Given the description of an element on the screen output the (x, y) to click on. 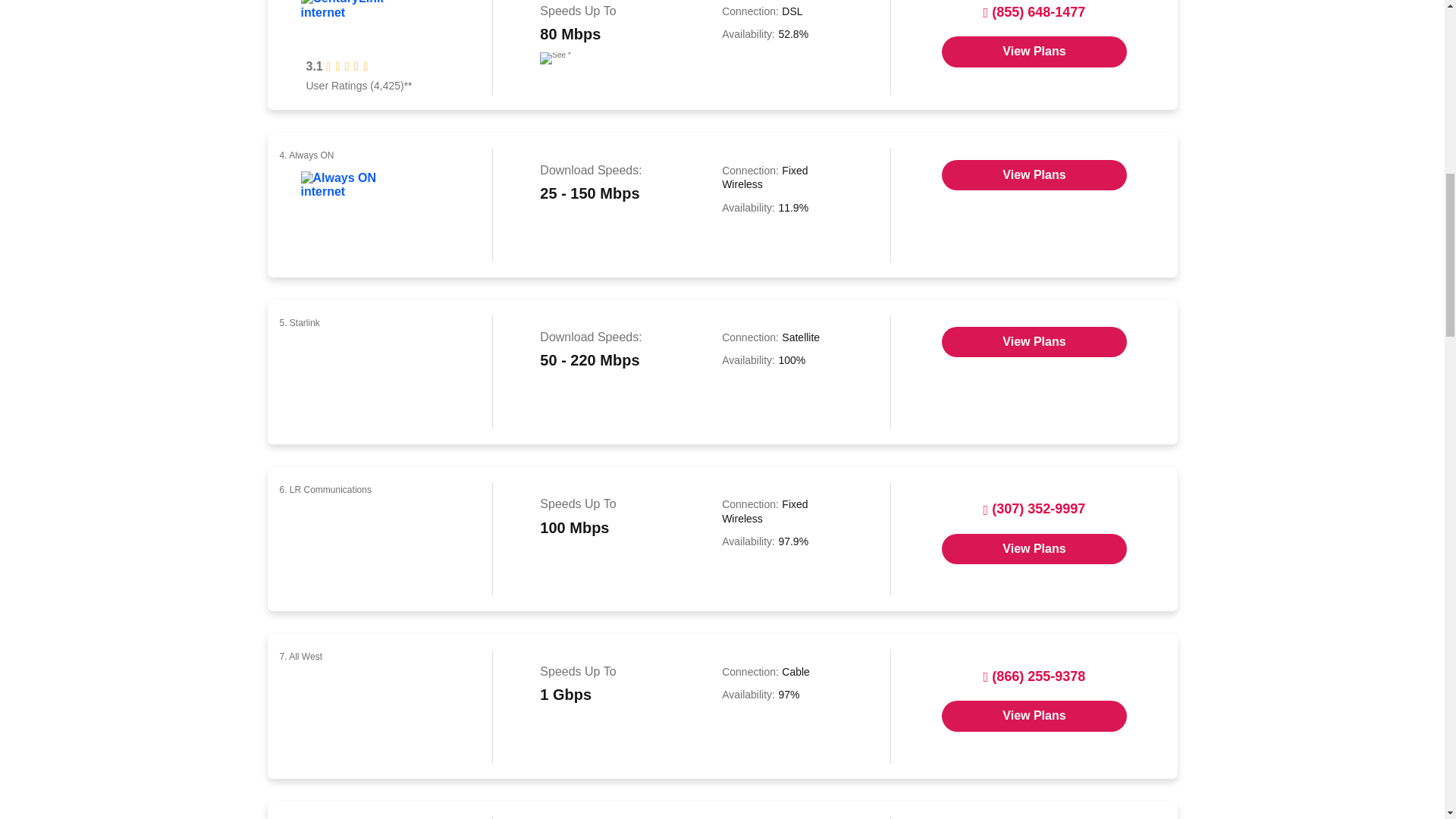
Opens in a new window (1034, 341)
Opens in a new window (1034, 51)
